Given the description of an element on the screen output the (x, y) to click on. 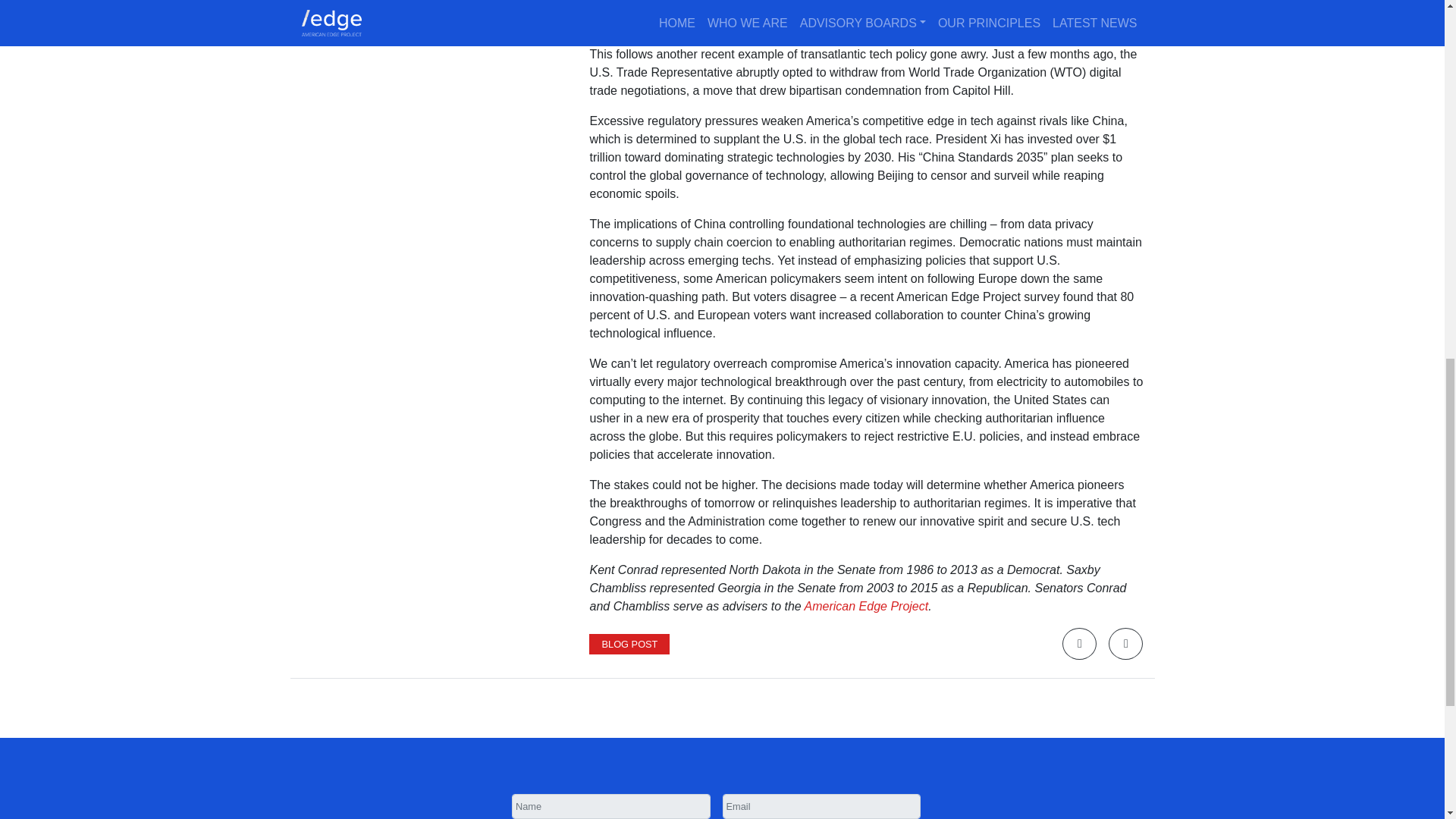
BLOG POST (629, 643)
American Edge Project (866, 605)
Blog Post Tag (629, 643)
